Given the description of an element on the screen output the (x, y) to click on. 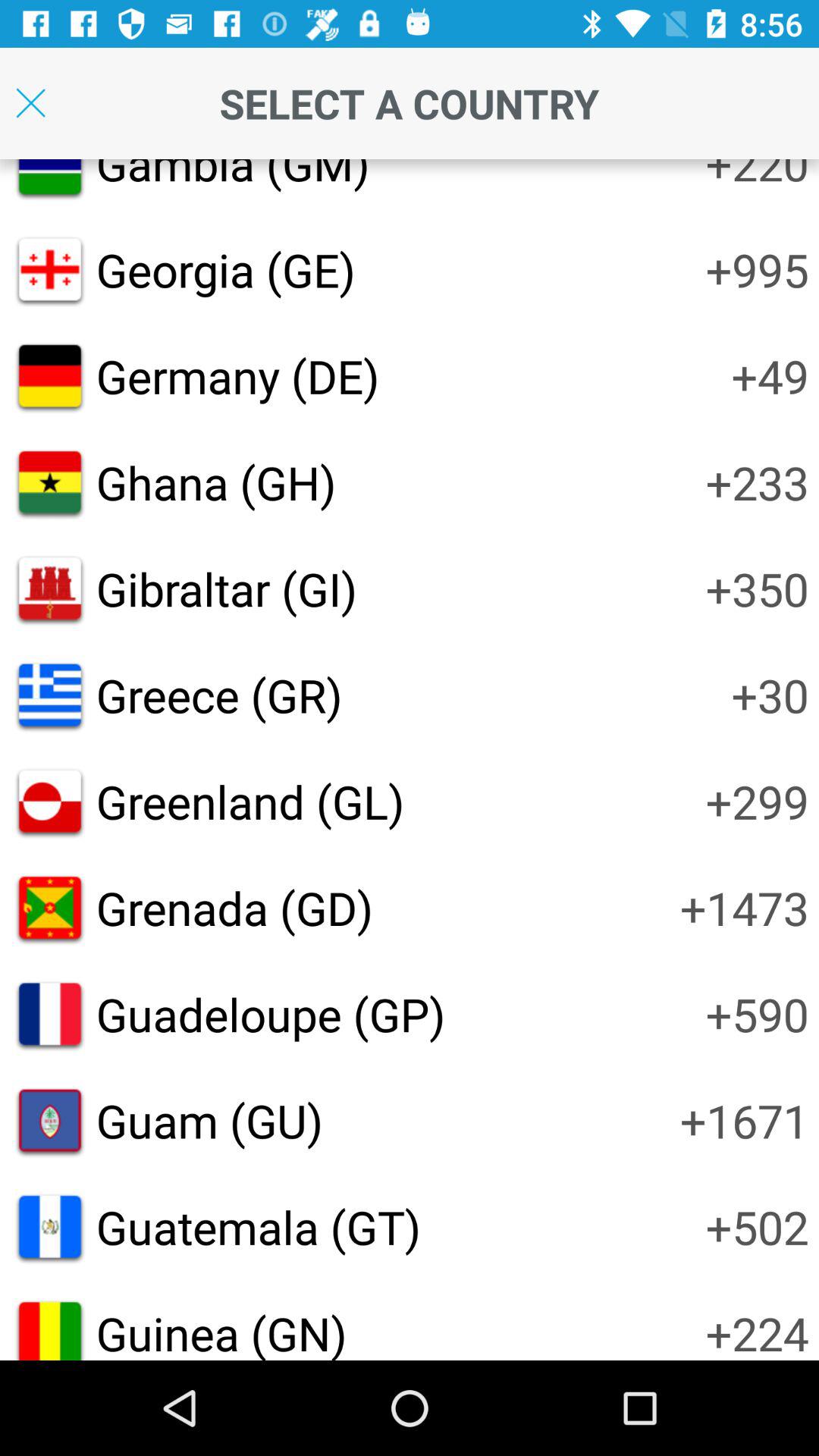
open the icon next to the +49 icon (237, 375)
